Given the description of an element on the screen output the (x, y) to click on. 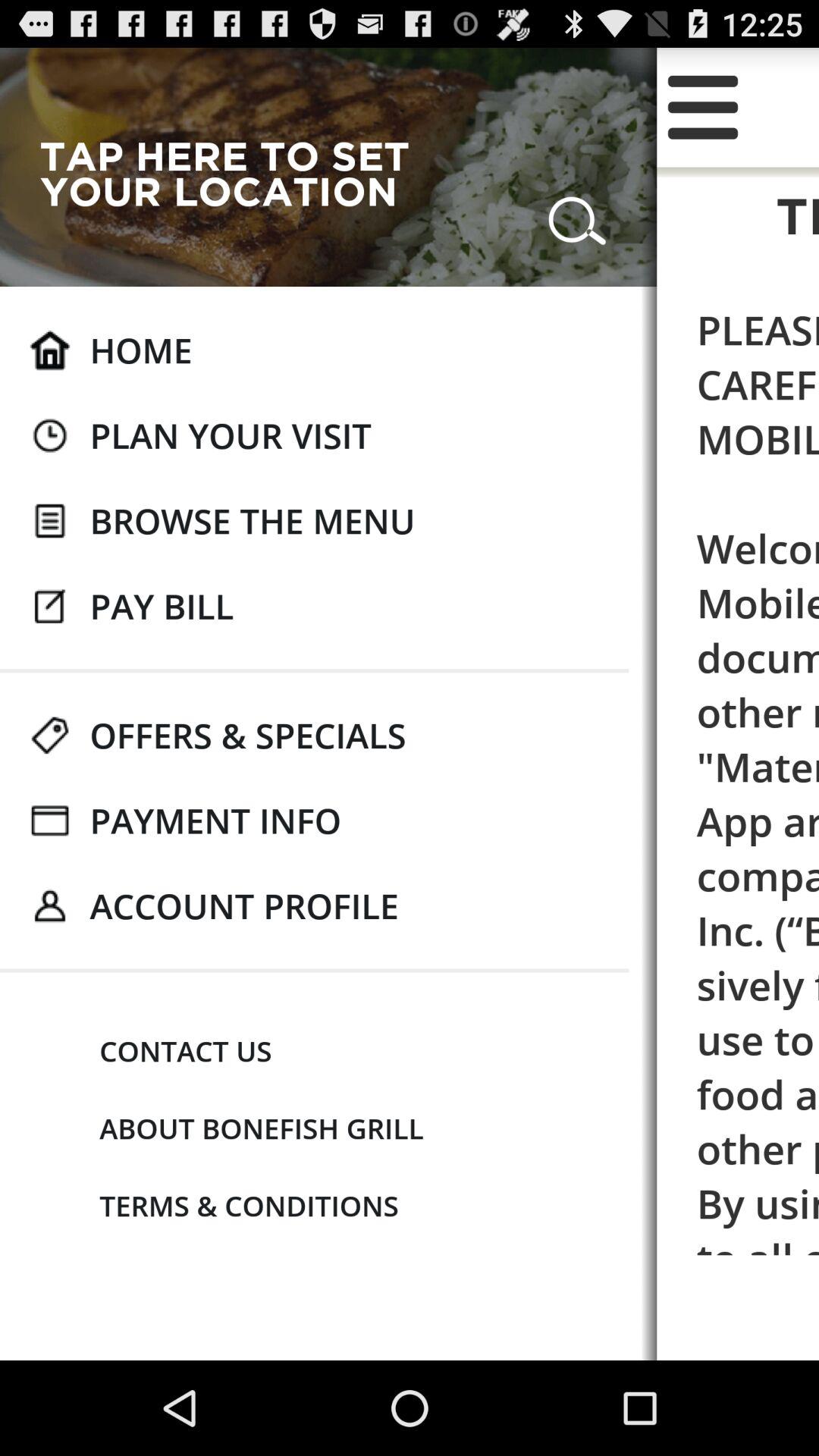
select icon next to please read these app (185, 1050)
